Given the description of an element on the screen output the (x, y) to click on. 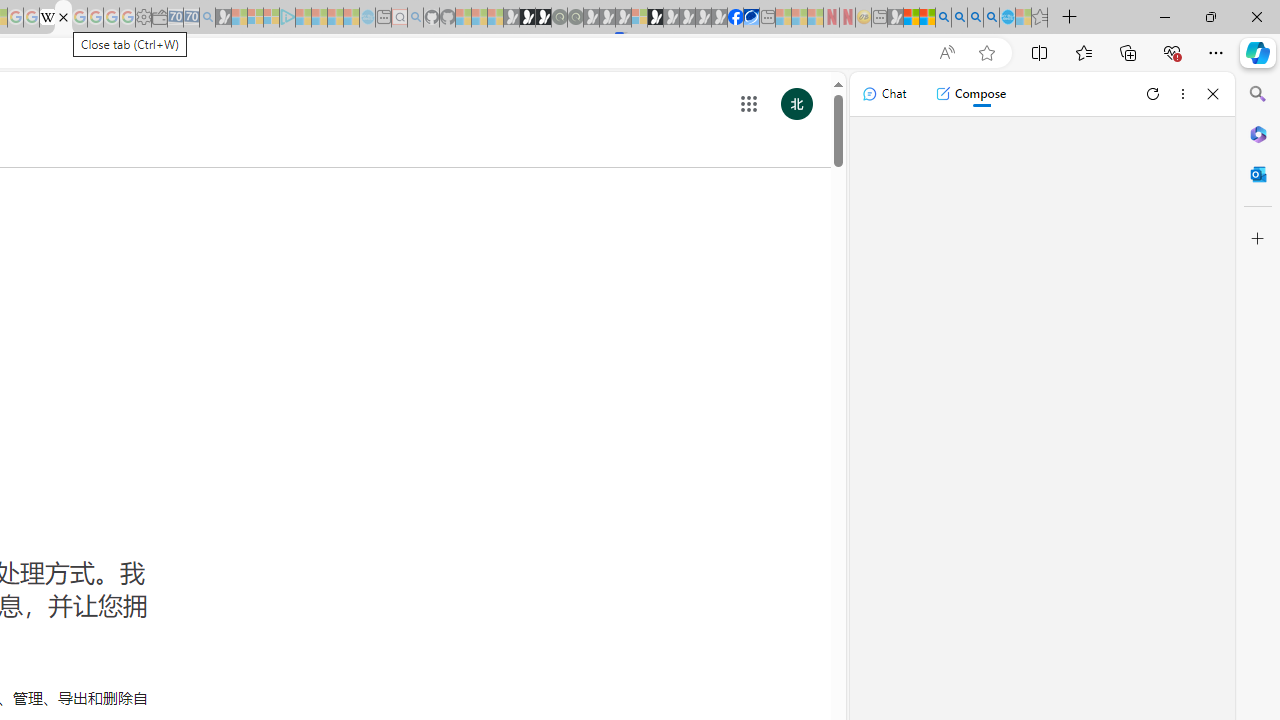
Bing AI - Search (943, 17)
Target page - Wikipedia (47, 17)
Bing Real Estate - Home sales and rental listings - Sleeping (207, 17)
Chat (884, 93)
